Given the description of an element on the screen output the (x, y) to click on. 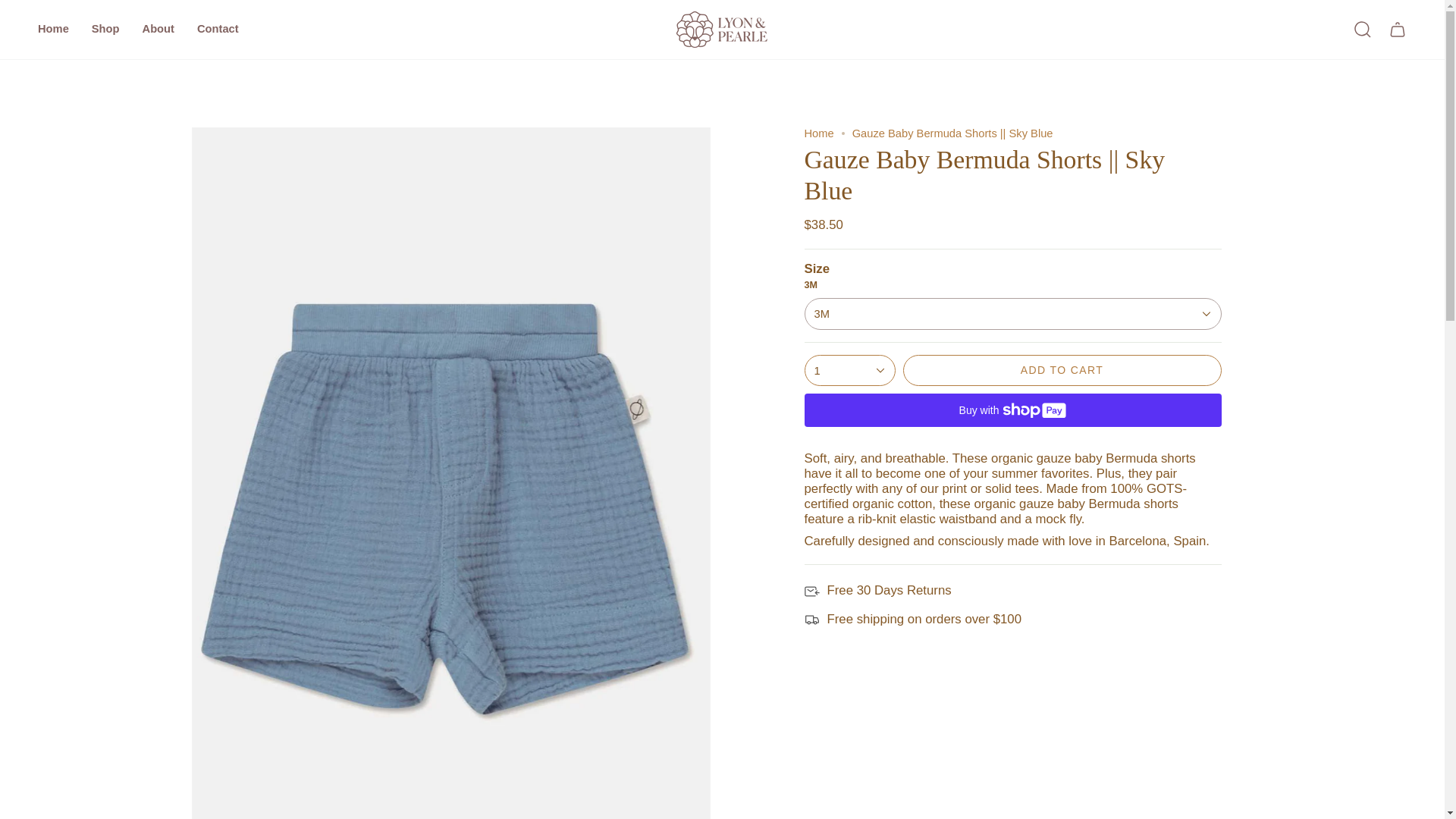
Cart (1397, 29)
Shop (105, 29)
Contact (218, 29)
Search (1362, 29)
About (158, 29)
Cart (1397, 29)
Home (53, 29)
